Given the description of an element on the screen output the (x, y) to click on. 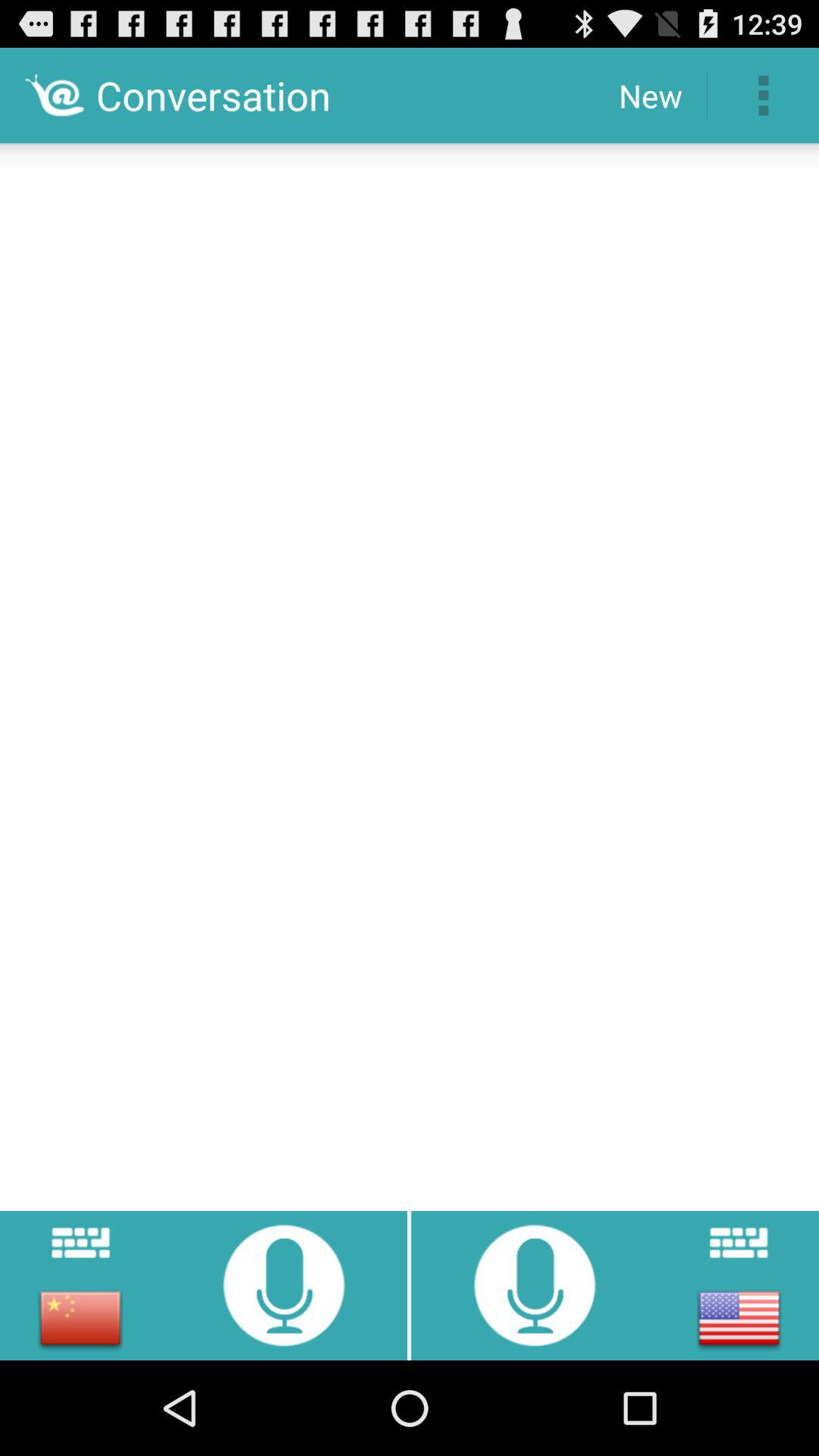
switch to chinese (80, 1317)
